Given the description of an element on the screen output the (x, y) to click on. 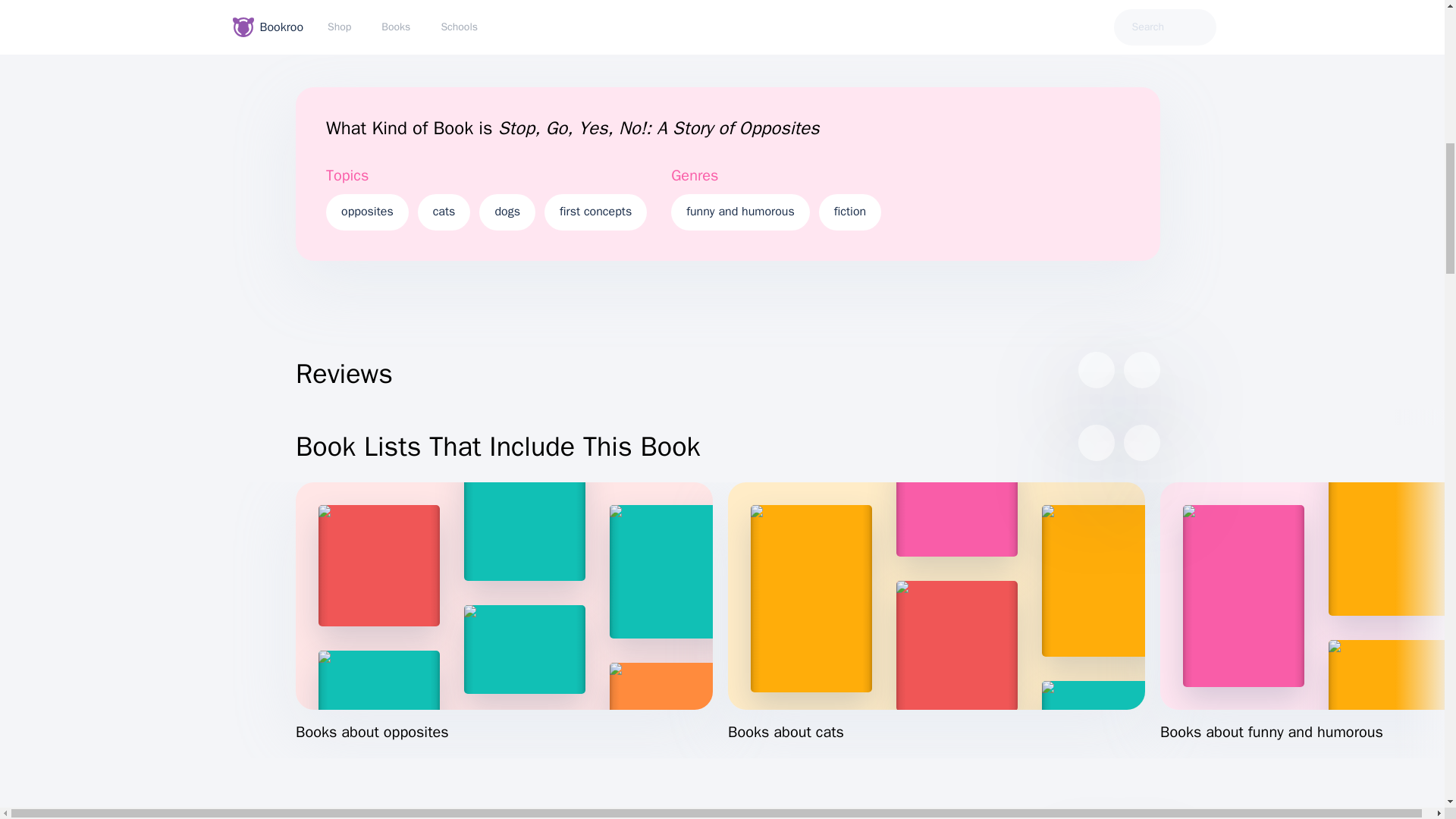
opposites (367, 212)
funny and humorous (740, 212)
dogs (507, 212)
cats (443, 212)
Books about cats (936, 612)
Books about opposites (504, 612)
fiction (849, 212)
first concepts (595, 212)
